Given the description of an element on the screen output the (x, y) to click on. 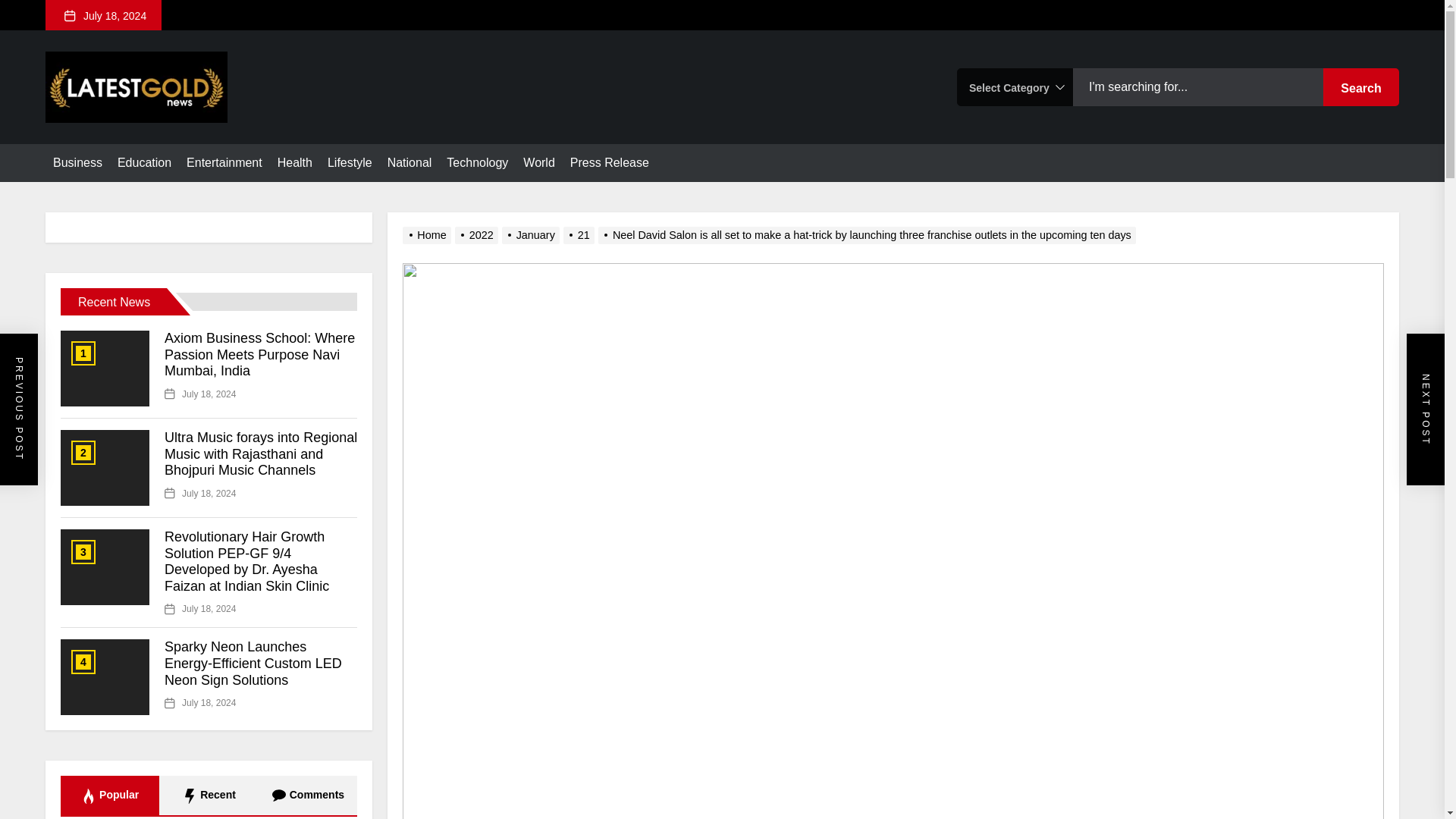
National (409, 162)
Lifestyle (349, 162)
Technology (477, 162)
Search (1361, 86)
Entertainment (224, 162)
Press Release (609, 162)
Health (295, 162)
World (538, 162)
Education (144, 162)
Latest Gold News (197, 148)
Business (76, 162)
